Given the description of an element on the screen output the (x, y) to click on. 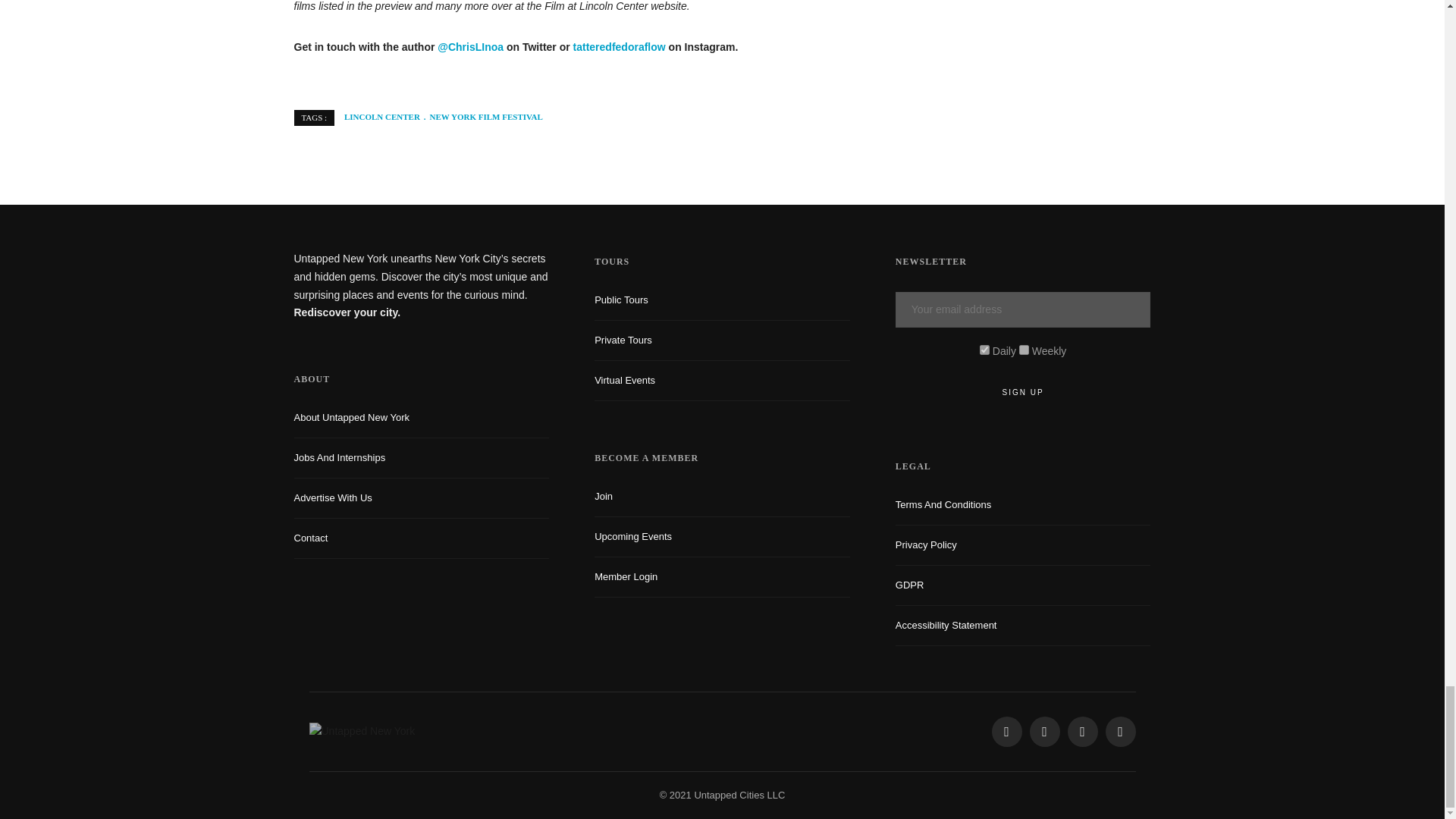
7cff6a70fd (1024, 349)
Sign up (1023, 392)
e99a09560c (984, 349)
